Given the description of an element on the screen output the (x, y) to click on. 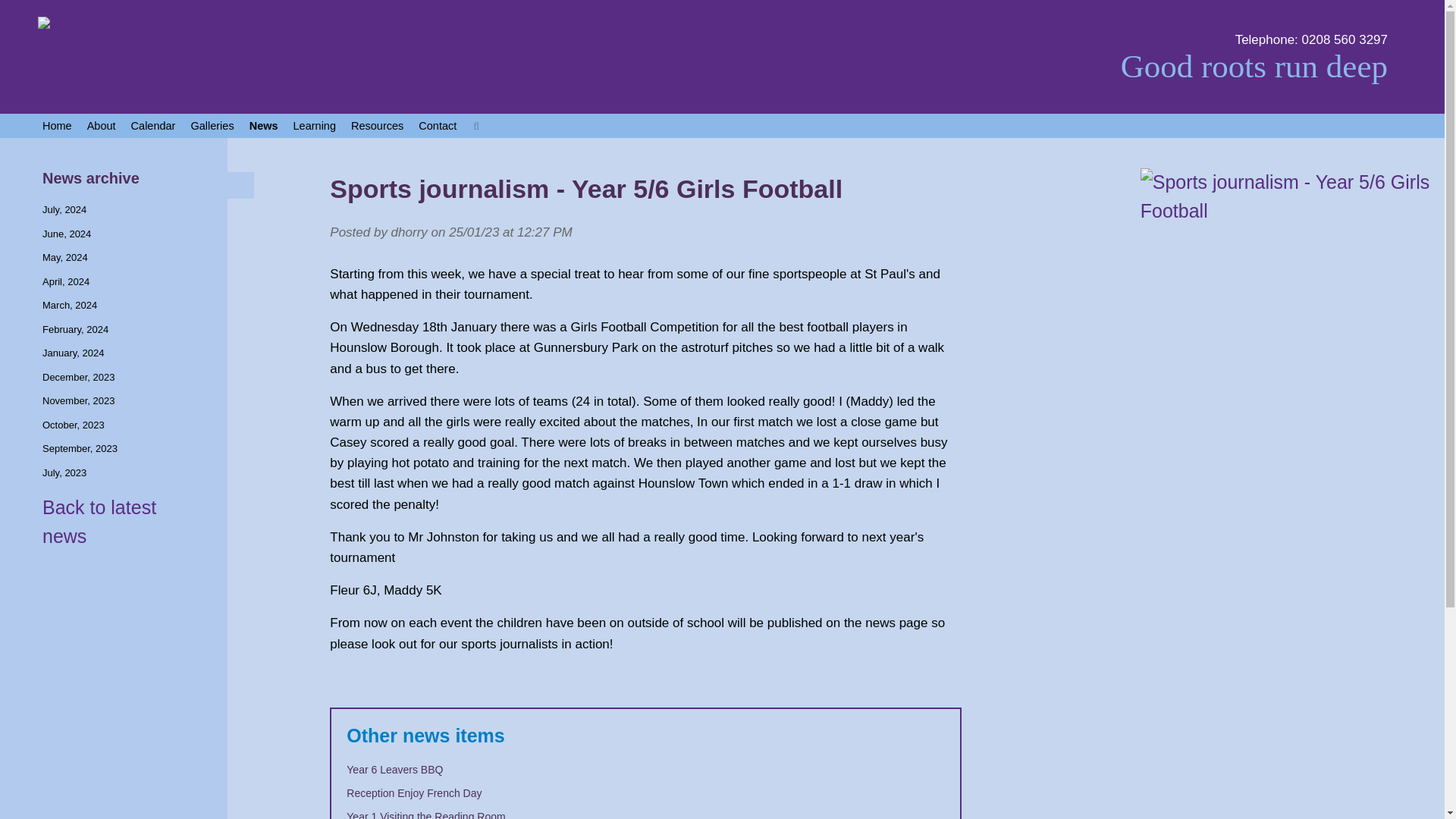
Calendar (153, 126)
About (101, 126)
Home (57, 126)
Galleries (212, 126)
Learning (314, 126)
News (263, 126)
